Given the description of an element on the screen output the (x, y) to click on. 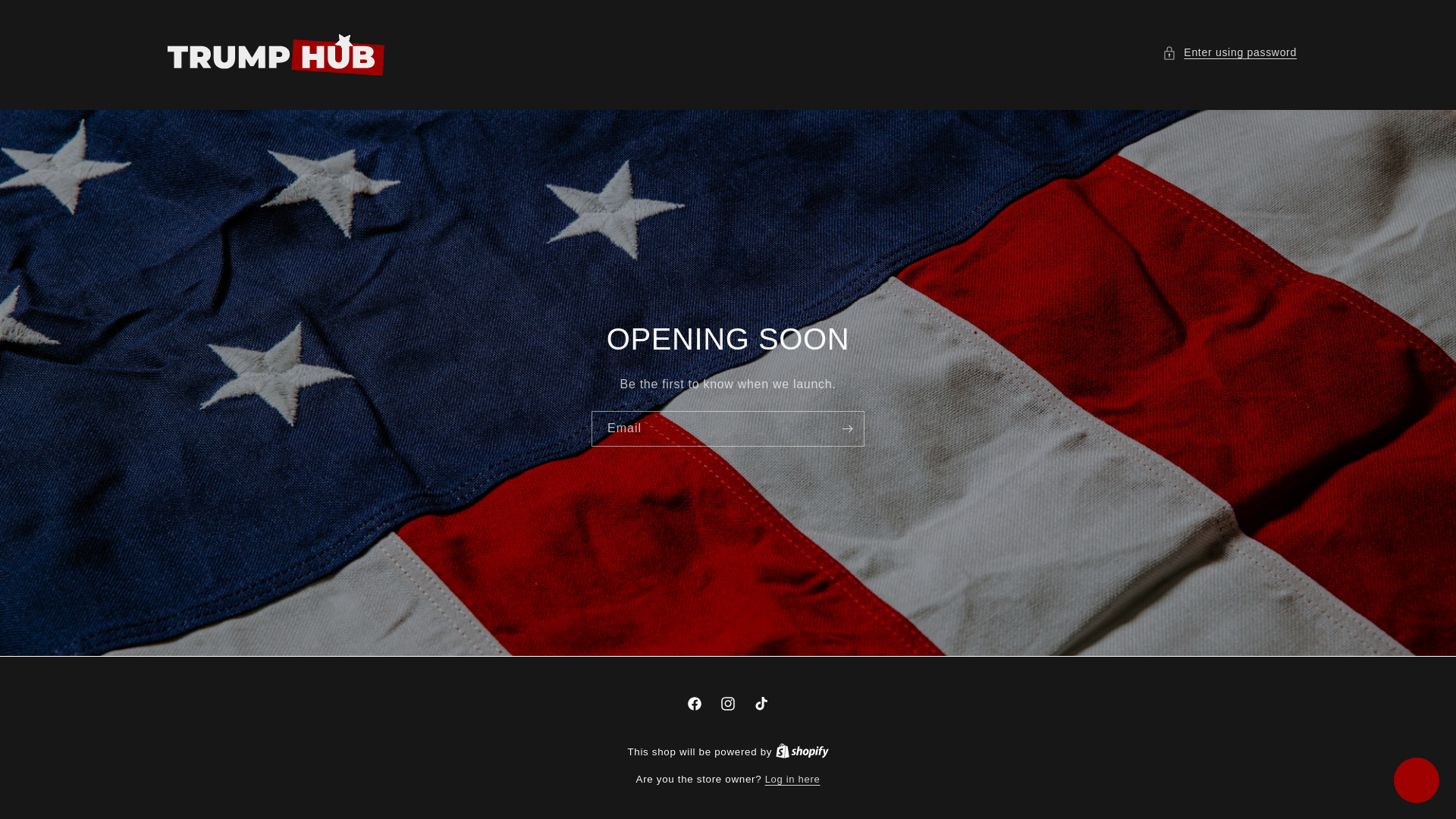
TikTok (760, 703)
Instagram (727, 703)
Shopify online store chat (1416, 781)
Log in here (793, 779)
Facebook (694, 703)
SKIP TO CONTENT (45, 17)
